Given the description of an element on the screen output the (x, y) to click on. 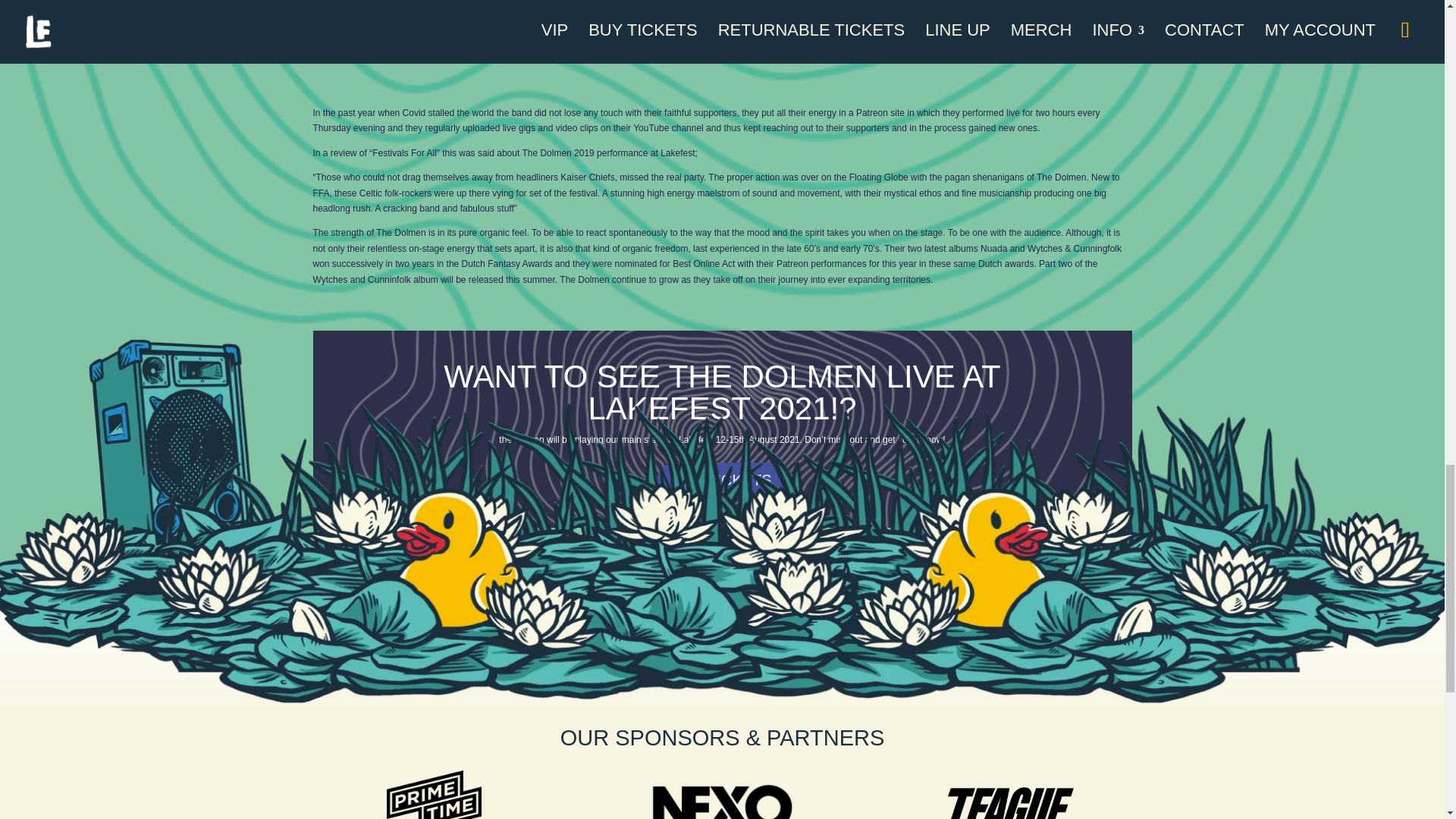
Teague AI (1010, 798)
NEXO (721, 800)
Prime Time (434, 794)
